Given the description of an element on the screen output the (x, y) to click on. 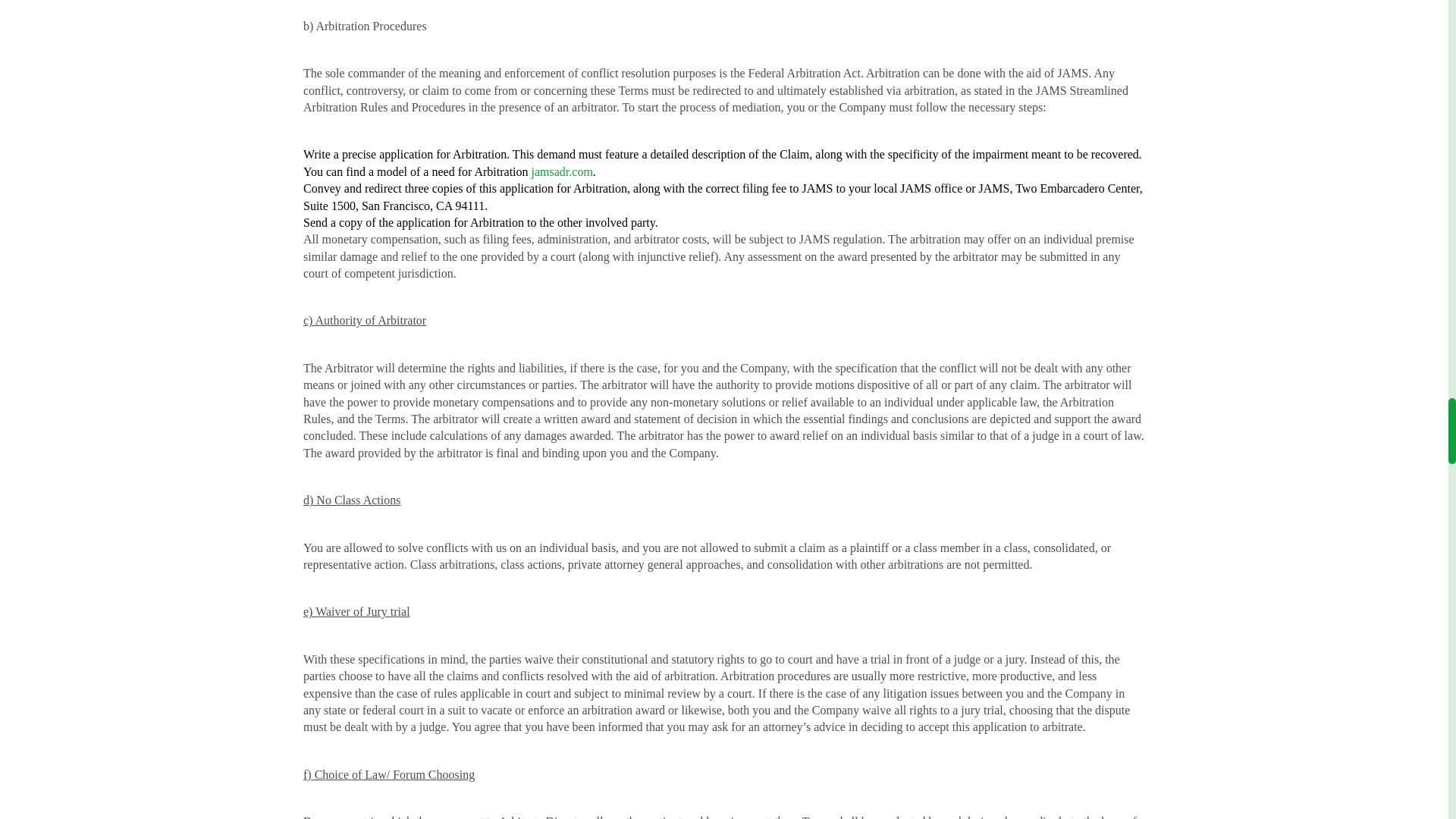
jamsadr.com (561, 171)
